Given the description of an element on the screen output the (x, y) to click on. 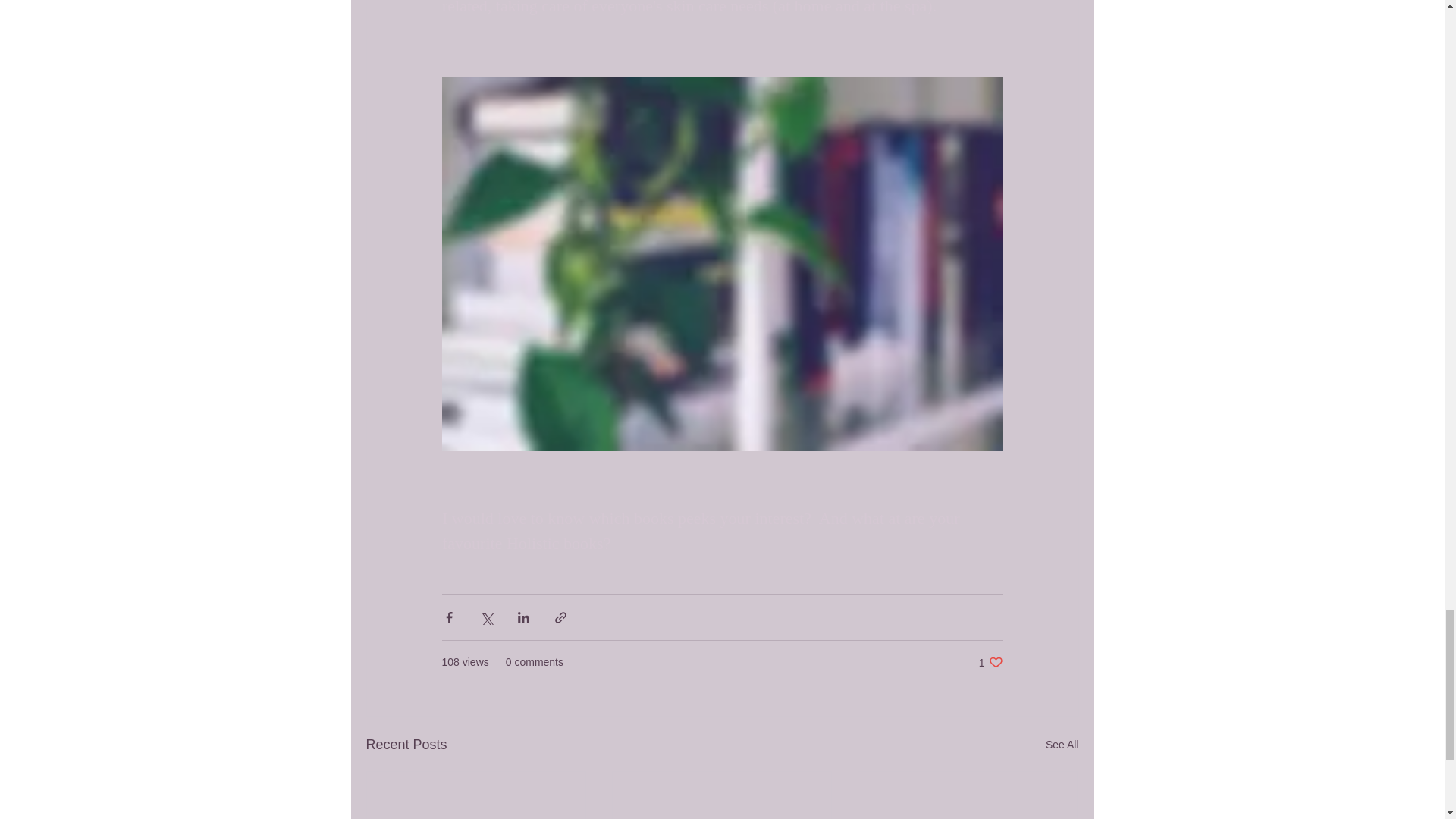
See All (1061, 744)
